Given the description of an element on the screen output the (x, y) to click on. 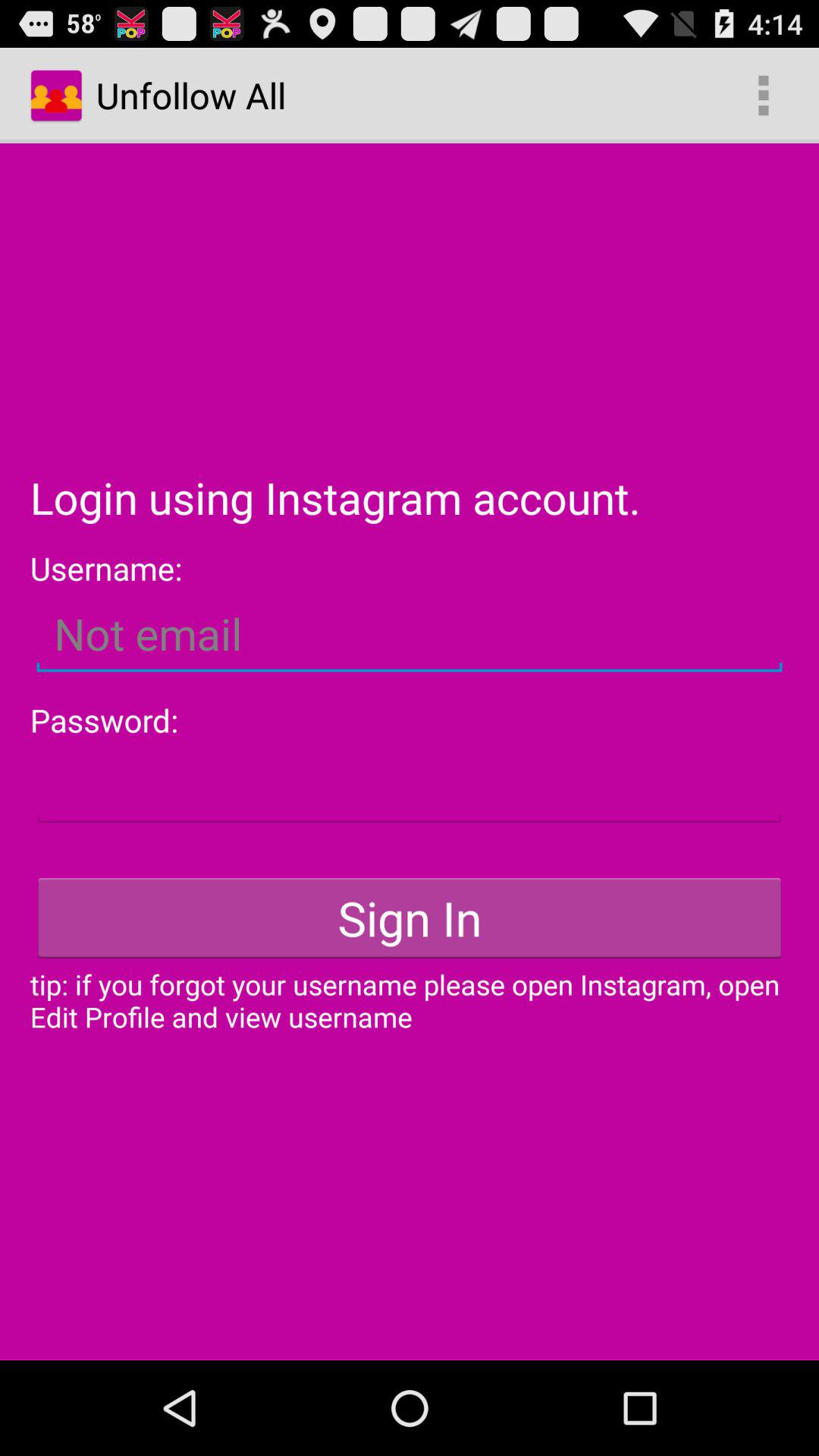
turn on item at the top right corner (763, 95)
